Given the description of an element on the screen output the (x, y) to click on. 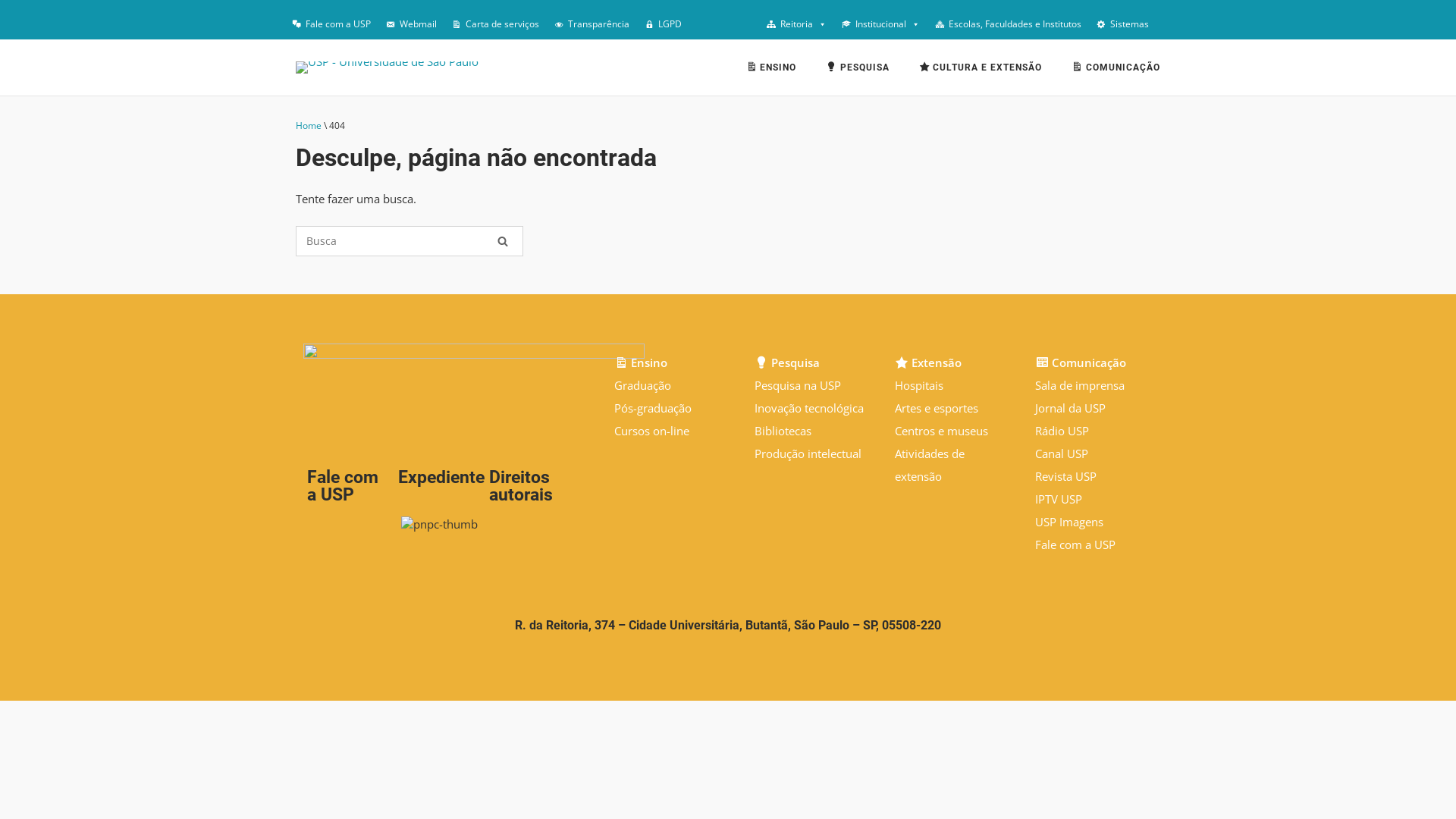
Fale com a USP Element type: text (1075, 544)
Fale com a USP Element type: text (331, 24)
IPTV USP Element type: text (1058, 498)
Bibliotecas Element type: text (782, 430)
Pesquisa Element type: text (787, 362)
Revista USP Element type: text (1065, 475)
Escolas, Faculdades e Institutos Element type: text (1007, 24)
USP Imagens Element type: text (1069, 521)
pnpc-thumb Element type: hover (439, 523)
Cursos on-line Element type: text (651, 430)
Hospitais Element type: text (918, 384)
Reitoria Element type: text (796, 24)
Centros e museus Element type: text (941, 430)
PESQUISA Element type: text (857, 69)
Webmail Element type: text (411, 24)
Ensino Element type: text (641, 362)
Pesquisa na USP Element type: text (797, 384)
Home Element type: text (308, 125)
Institucional Element type: text (880, 24)
ENSINO Element type: text (771, 69)
Sistemas Element type: text (1122, 24)
Artes e esportes Element type: text (936, 407)
Jornal da USP Element type: text (1070, 407)
LGPD Element type: text (663, 24)
Sala de imprensa Element type: text (1079, 384)
Canal USP Element type: text (1061, 453)
